Given the description of an element on the screen output the (x, y) to click on. 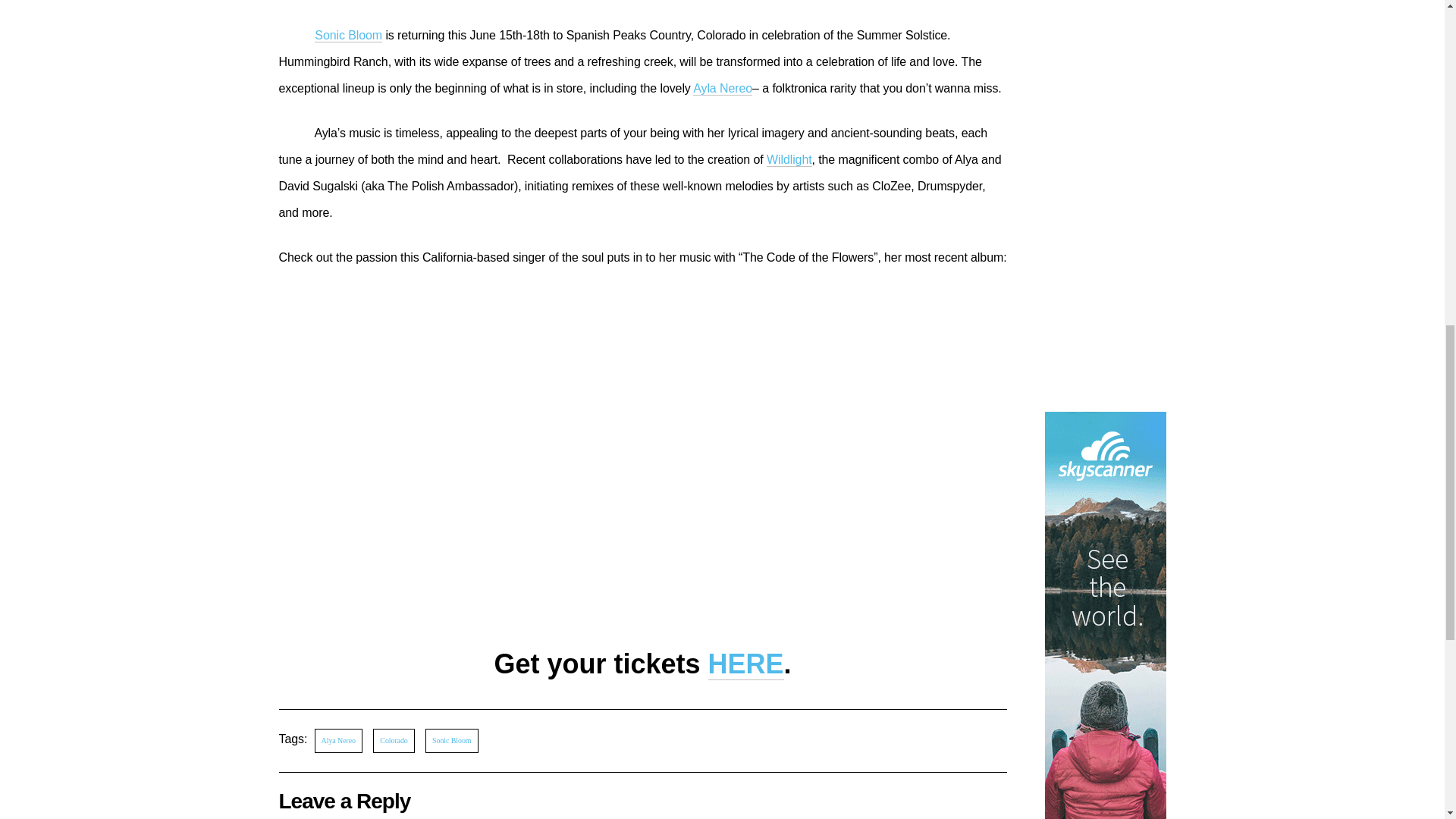
Wildlight (789, 160)
Alya Nereo (338, 740)
Ayla Nereo (722, 88)
Sonic Bloom (451, 740)
Colorado (392, 740)
HERE (745, 664)
Sonic Bloom (347, 35)
